Given the description of an element on the screen output the (x, y) to click on. 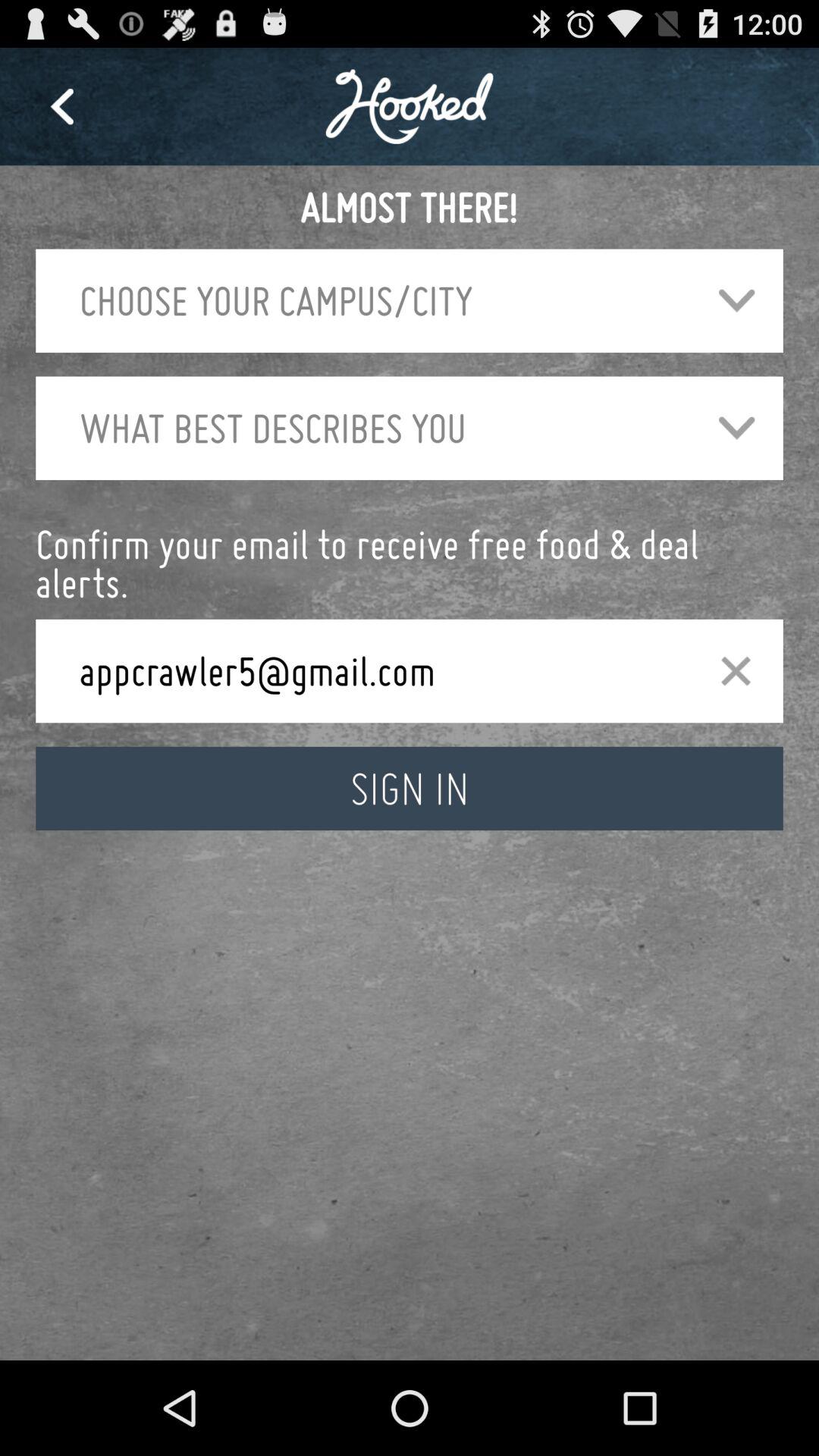
choose the icon below the appcrawler5@gmail.com item (409, 788)
